Given the description of an element on the screen output the (x, y) to click on. 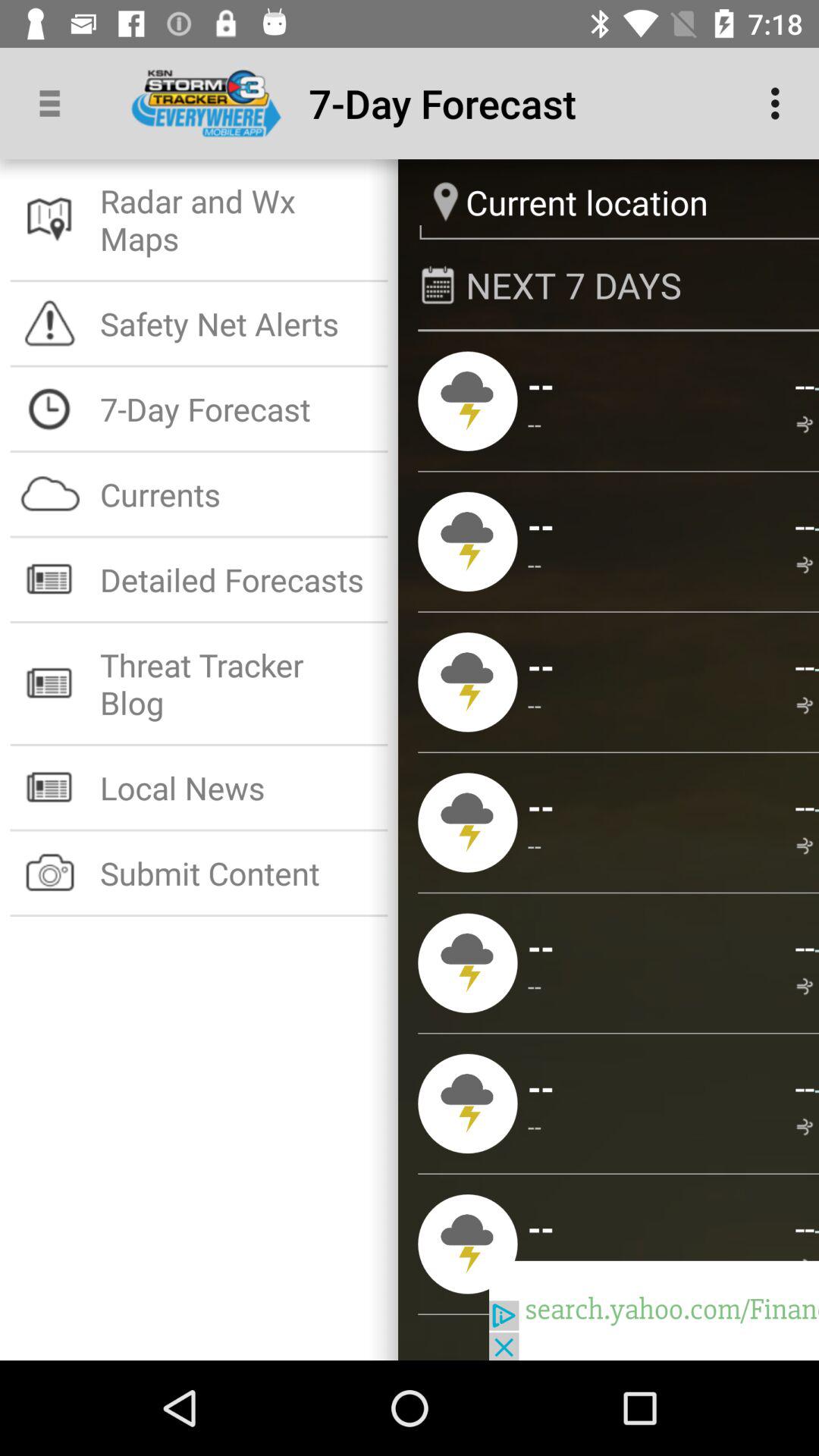
choose the item next to -- (534, 423)
